Given the description of an element on the screen output the (x, y) to click on. 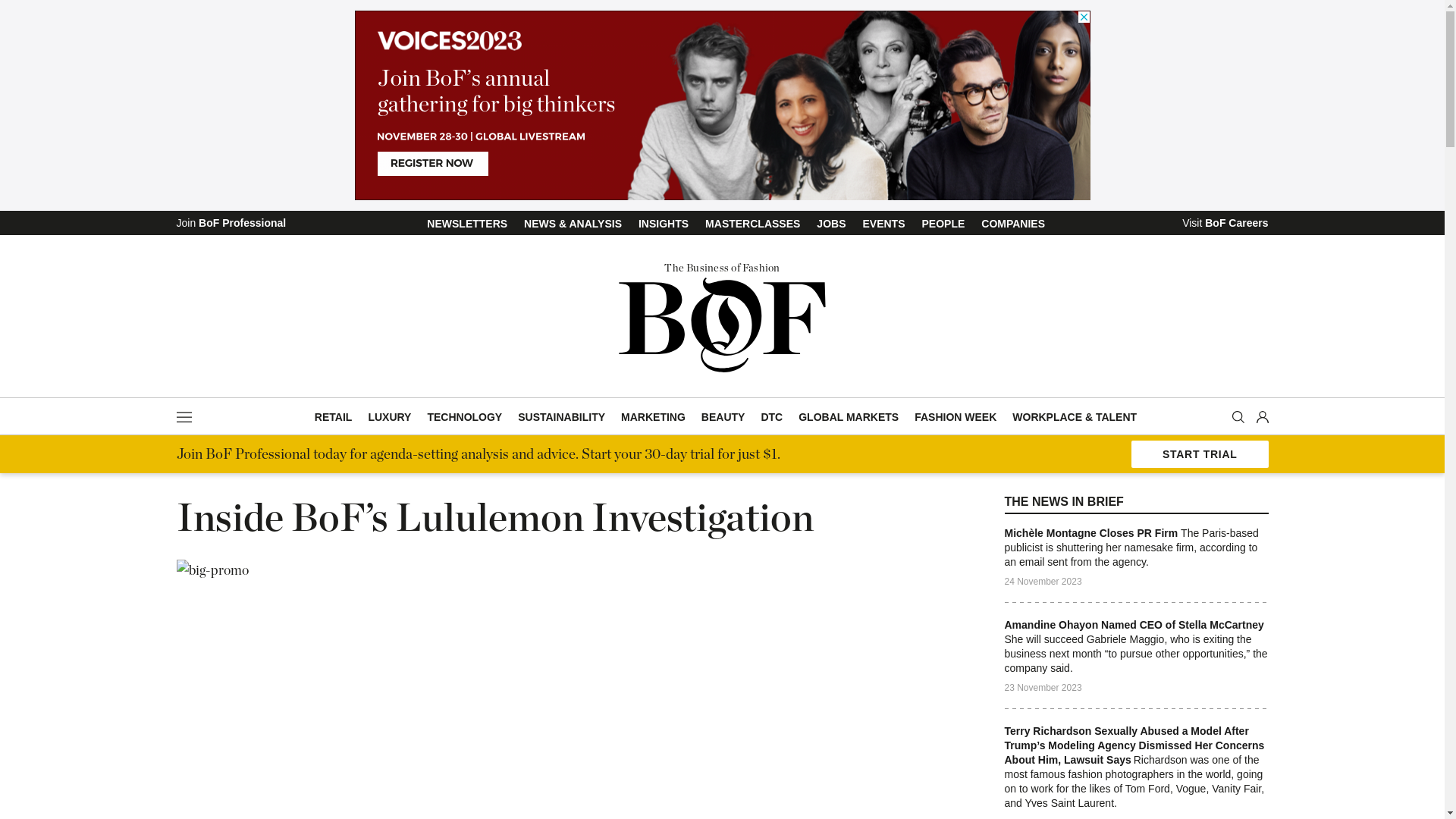
MASTERCLASSES Element type: text (752, 223)
COMPANIES Element type: text (1012, 223)
INSIGHTS Element type: text (663, 223)
NEWS & ANALYSIS Element type: text (572, 223)
EVENTS Element type: text (883, 223)
NEWSLETTERS Element type: text (467, 223)
JOBS Element type: text (830, 223)
MARKETING Element type: text (653, 417)
PEOPLE Element type: text (942, 223)
DTC Element type: text (771, 417)
GLOBAL MARKETS Element type: text (848, 417)
START TRIAL Element type: text (1199, 453)
RETAIL Element type: text (333, 417)
SUSTAINABILITY Element type: text (561, 417)
LUXURY Element type: text (389, 417)
BEAUTY Element type: text (723, 417)
Join BoF Professional Element type: text (230, 221)
FASHION WEEK Element type: text (955, 417)
Visit BoF Careers Element type: text (1224, 221)
TECHNOLOGY Element type: text (464, 417)
WORKPLACE & TALENT Element type: text (1074, 417)
The Business of Fashion Element type: text (722, 316)
3rd party ad content Element type: hover (722, 105)
